Given the description of an element on the screen output the (x, y) to click on. 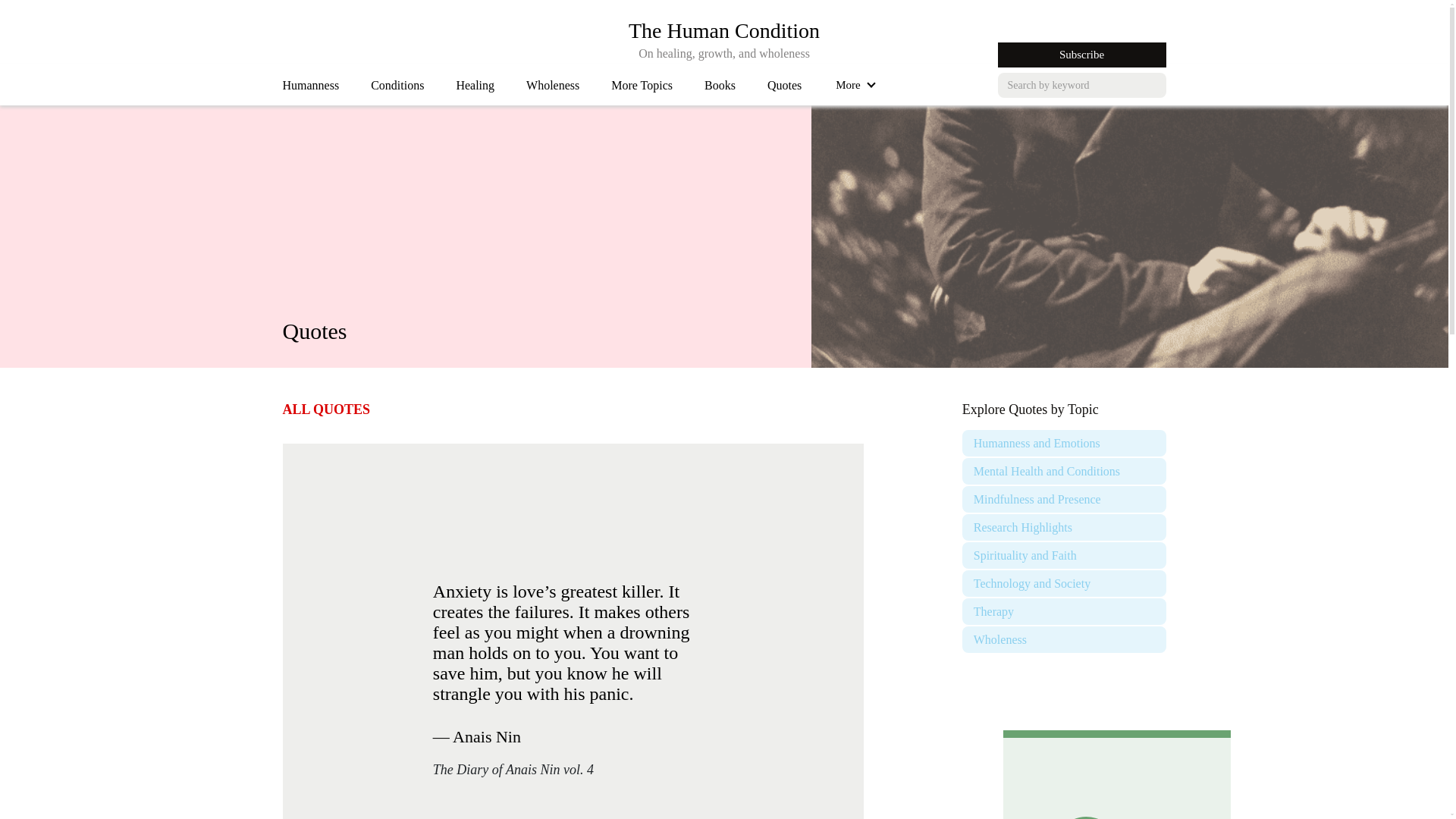
More Topics (641, 88)
Wholeness (723, 29)
Humanness (552, 88)
Healing (310, 88)
Conditions (475, 88)
